Given the description of an element on the screen output the (x, y) to click on. 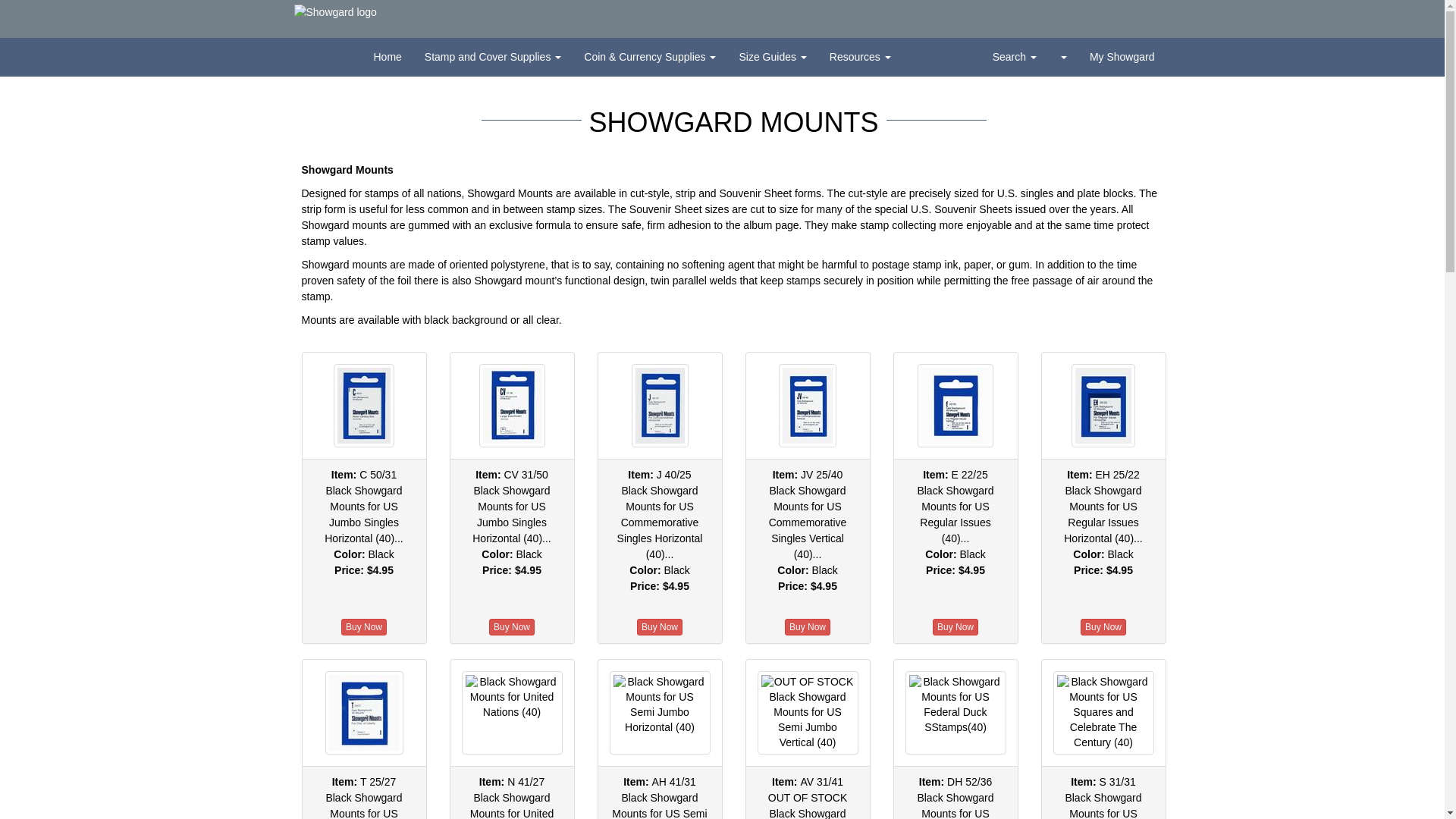
Stamp and Cover Supplies (492, 56)
Showgard logo (335, 12)
Home (387, 56)
